Given the description of an element on the screen output the (x, y) to click on. 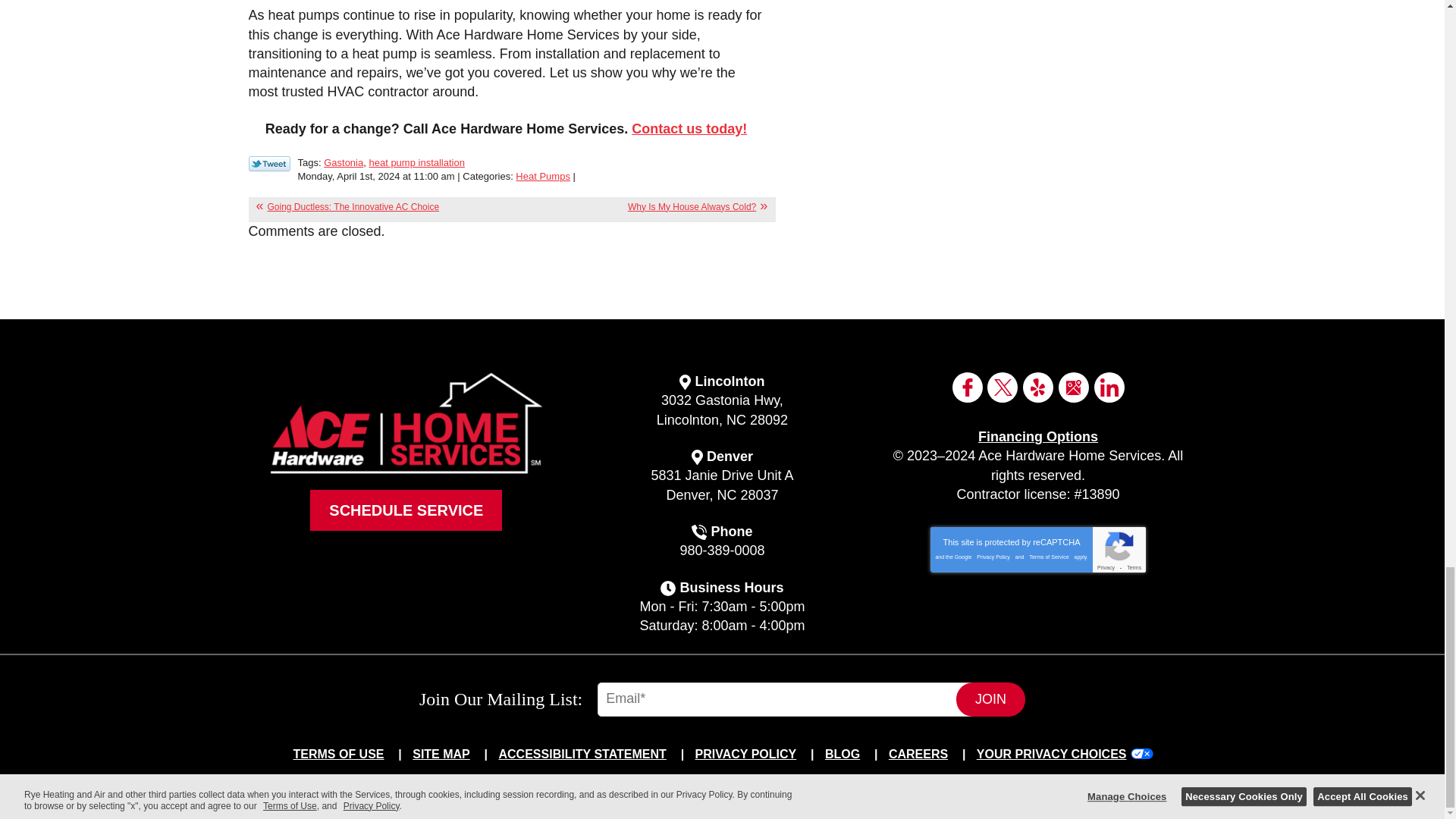
Contact us today! (688, 128)
